Given the description of an element on the screen output the (x, y) to click on. 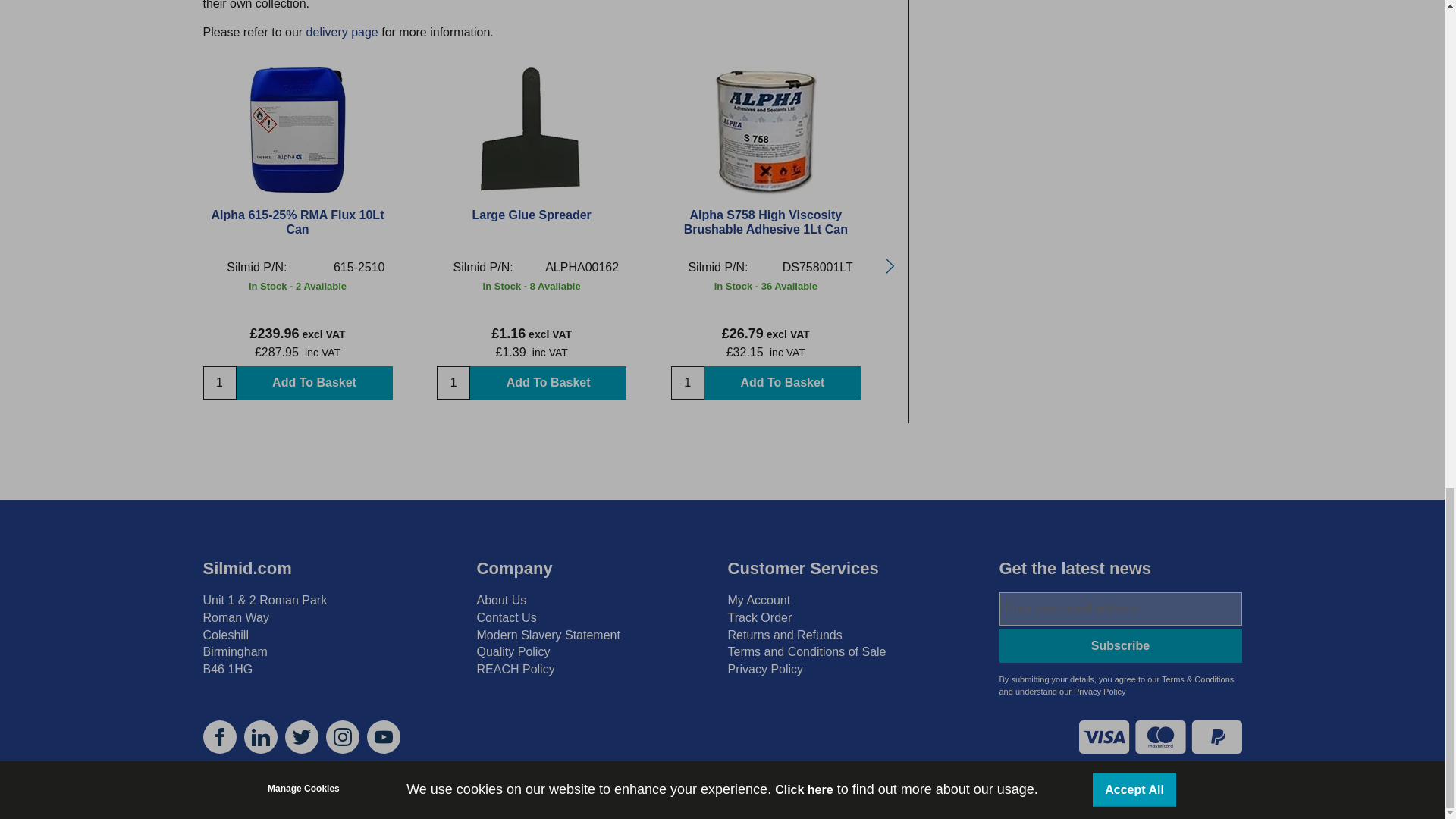
Add To Basket (314, 382)
1 (453, 382)
1 (219, 382)
Add To Basket (782, 382)
1 (687, 382)
Add To Basket (548, 382)
